Given the description of an element on the screen output the (x, y) to click on. 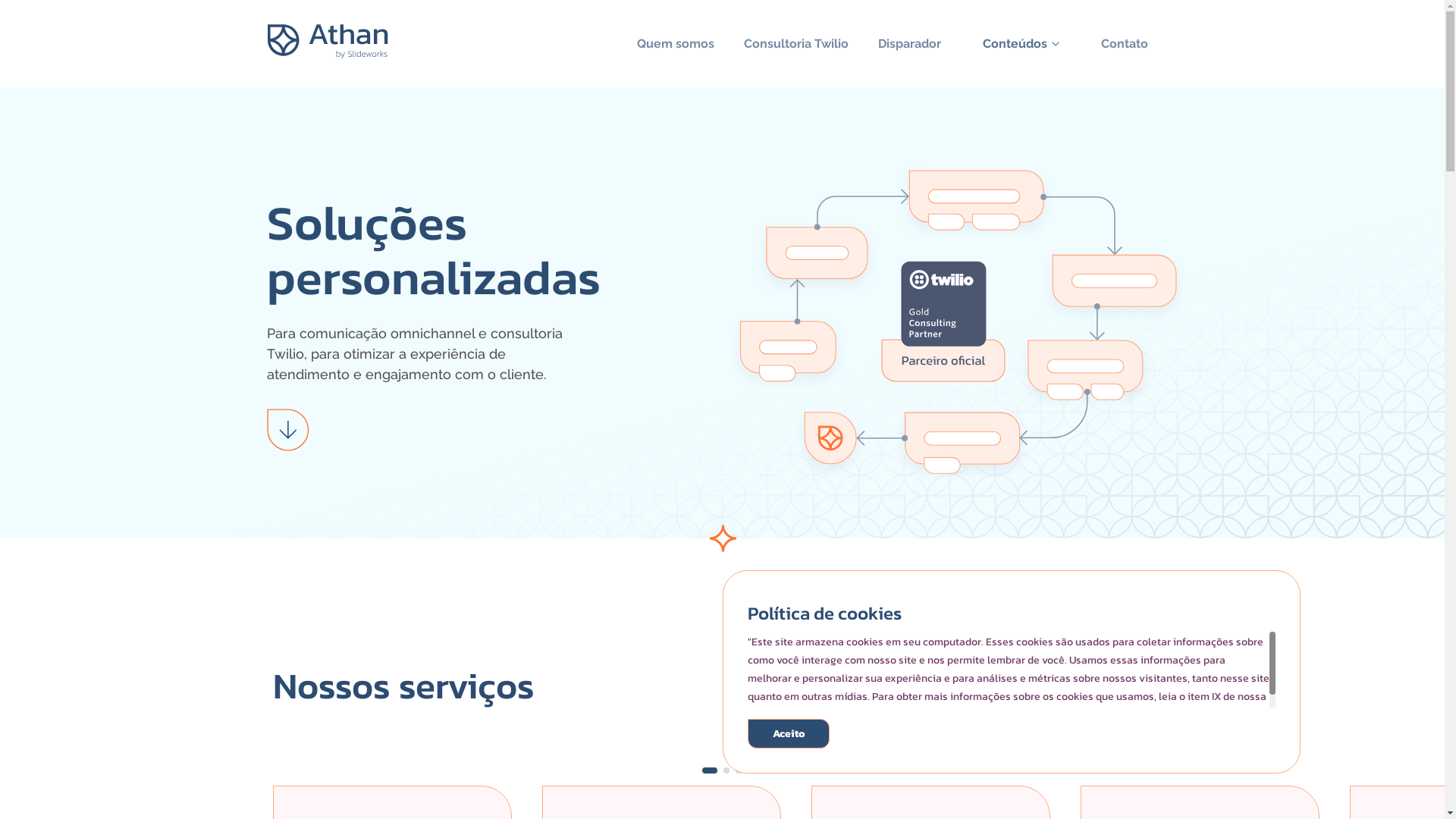
Contato Element type: text (1124, 43)
Consultoria Twilio Element type: text (795, 43)
Disparador Element type: text (909, 43)
Aceito Element type: text (788, 733)
Quem somos Element type: text (675, 43)
